Given the description of an element on the screen output the (x, y) to click on. 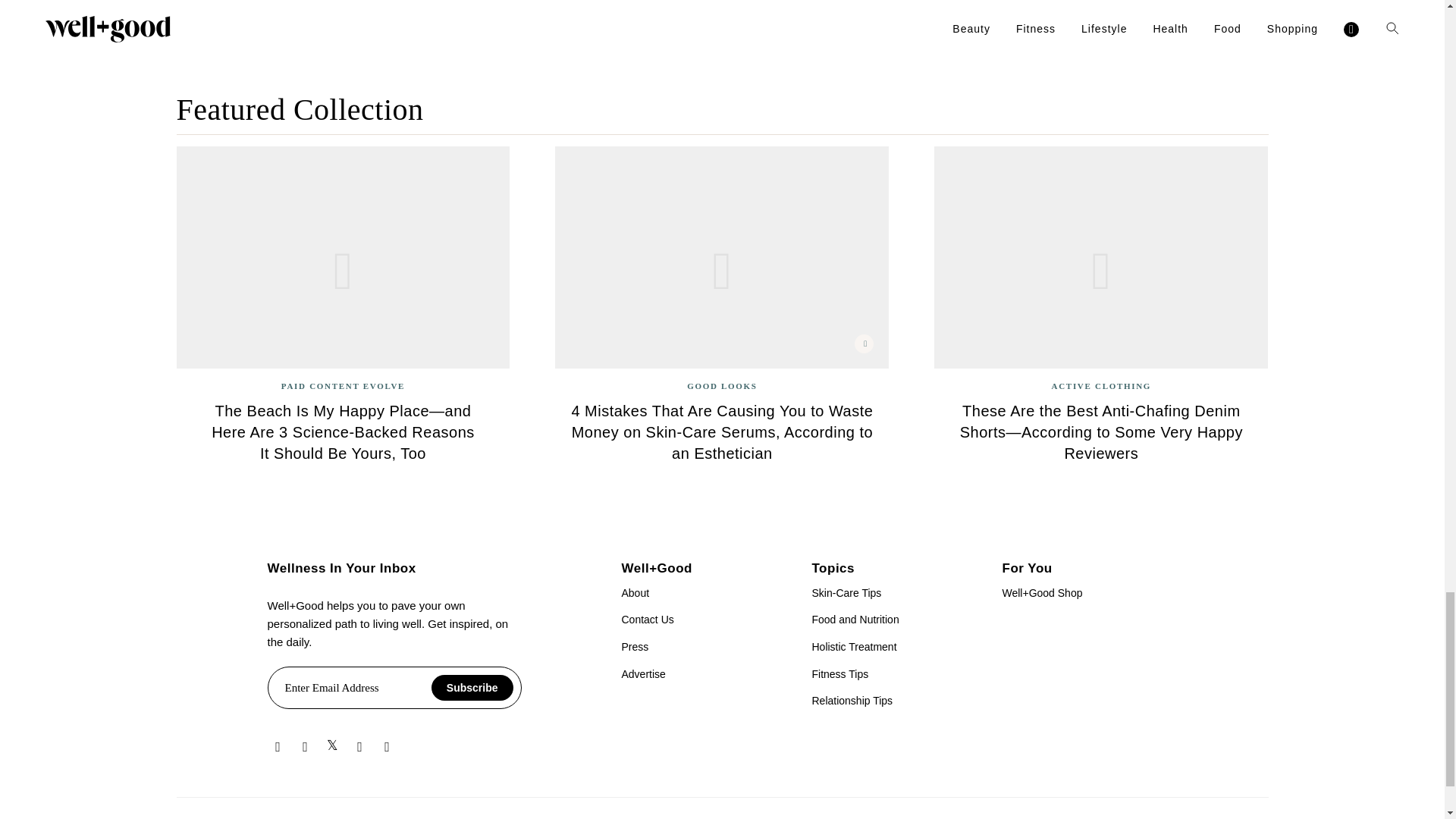
Sign Up (708, 0)
